Given the description of an element on the screen output the (x, y) to click on. 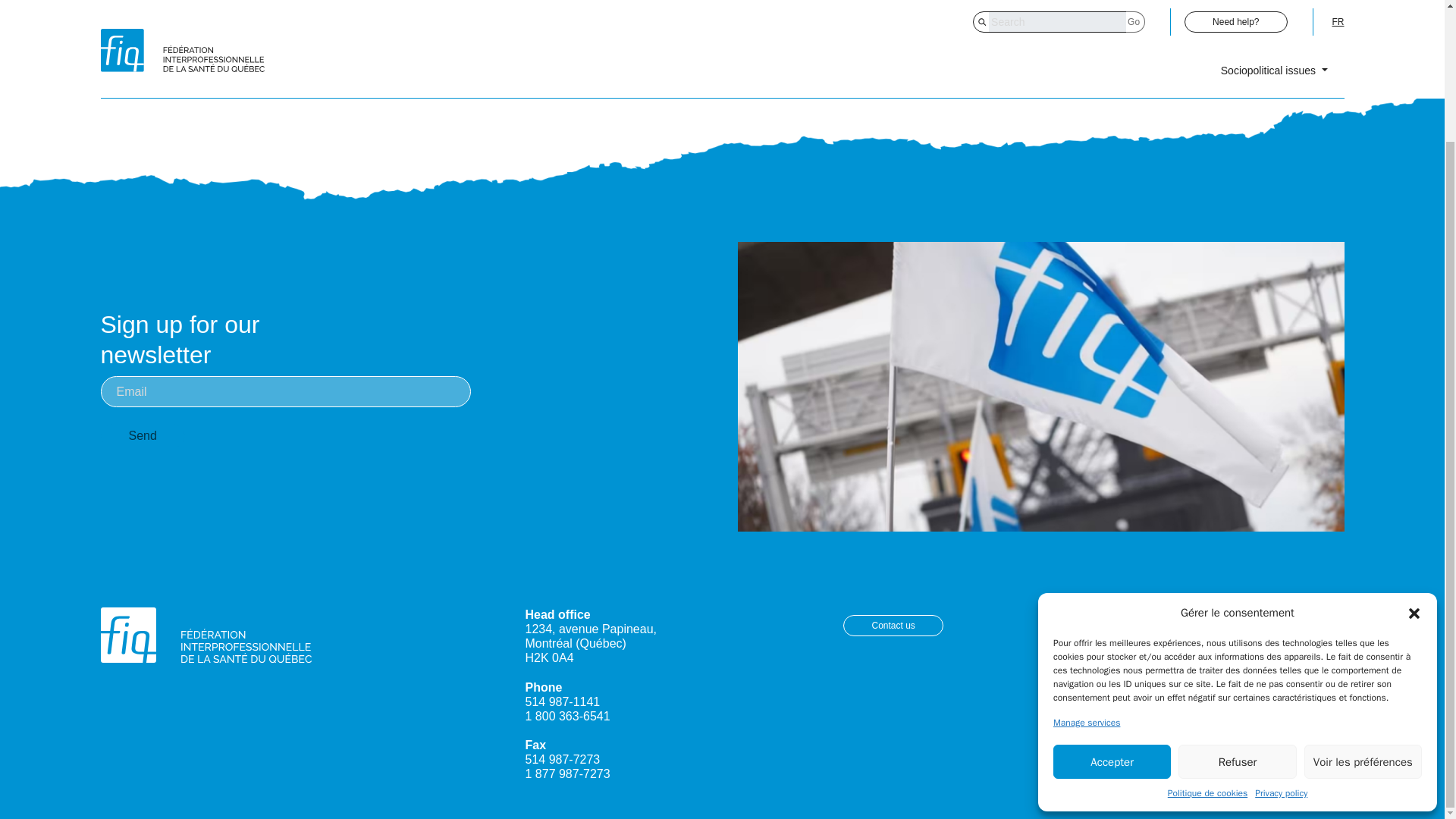
Send (142, 435)
Contact us (892, 625)
Refuser (1236, 600)
Privacy policy (1197, 614)
Accepter (1111, 600)
Contact us (892, 625)
Send (142, 435)
Privacy policy (1281, 632)
Politique de cookies (1207, 632)
Manage services (1085, 561)
